Given the description of an element on the screen output the (x, y) to click on. 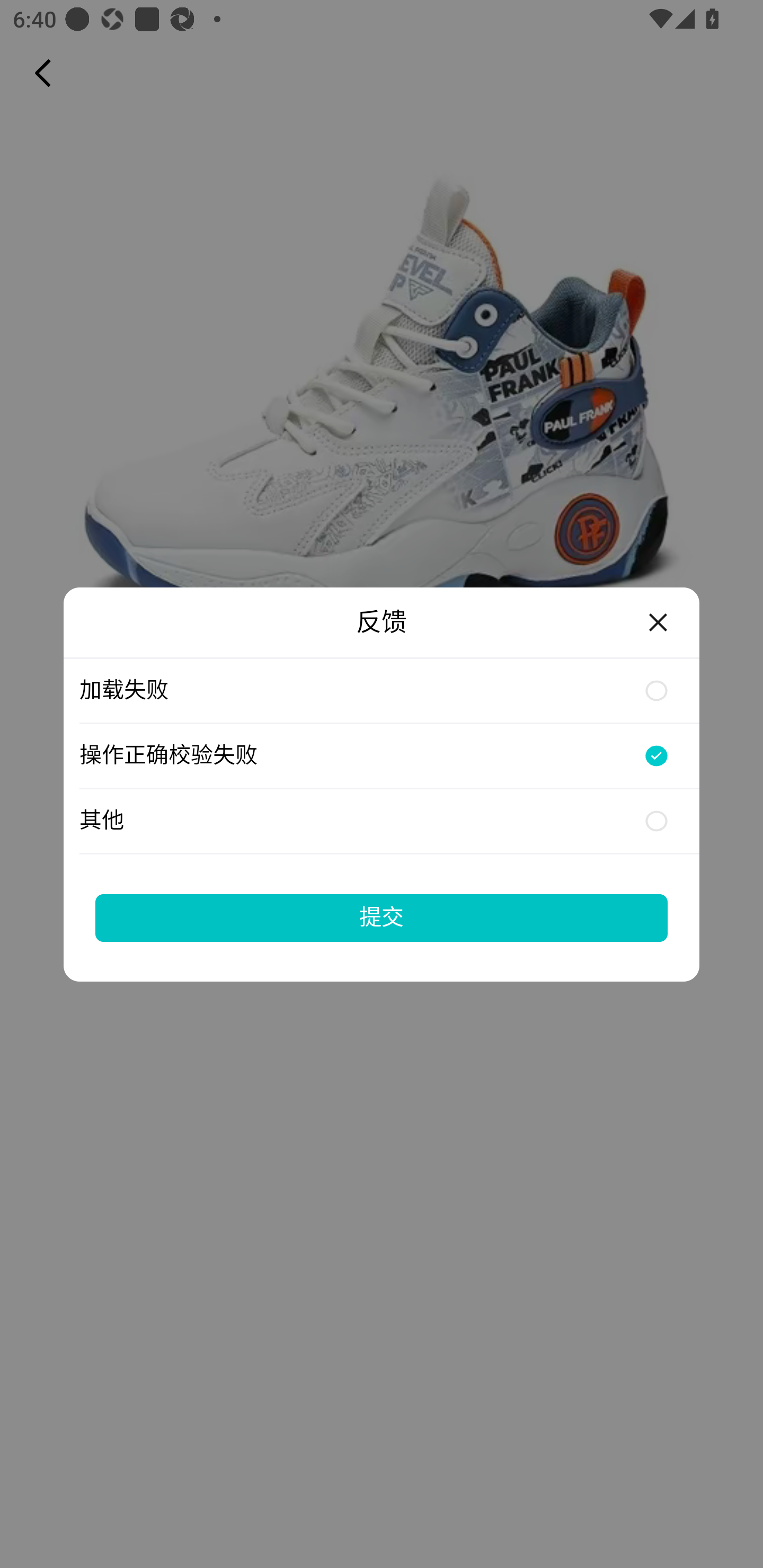
提交 (381, 917)
